Given the description of an element on the screen output the (x, y) to click on. 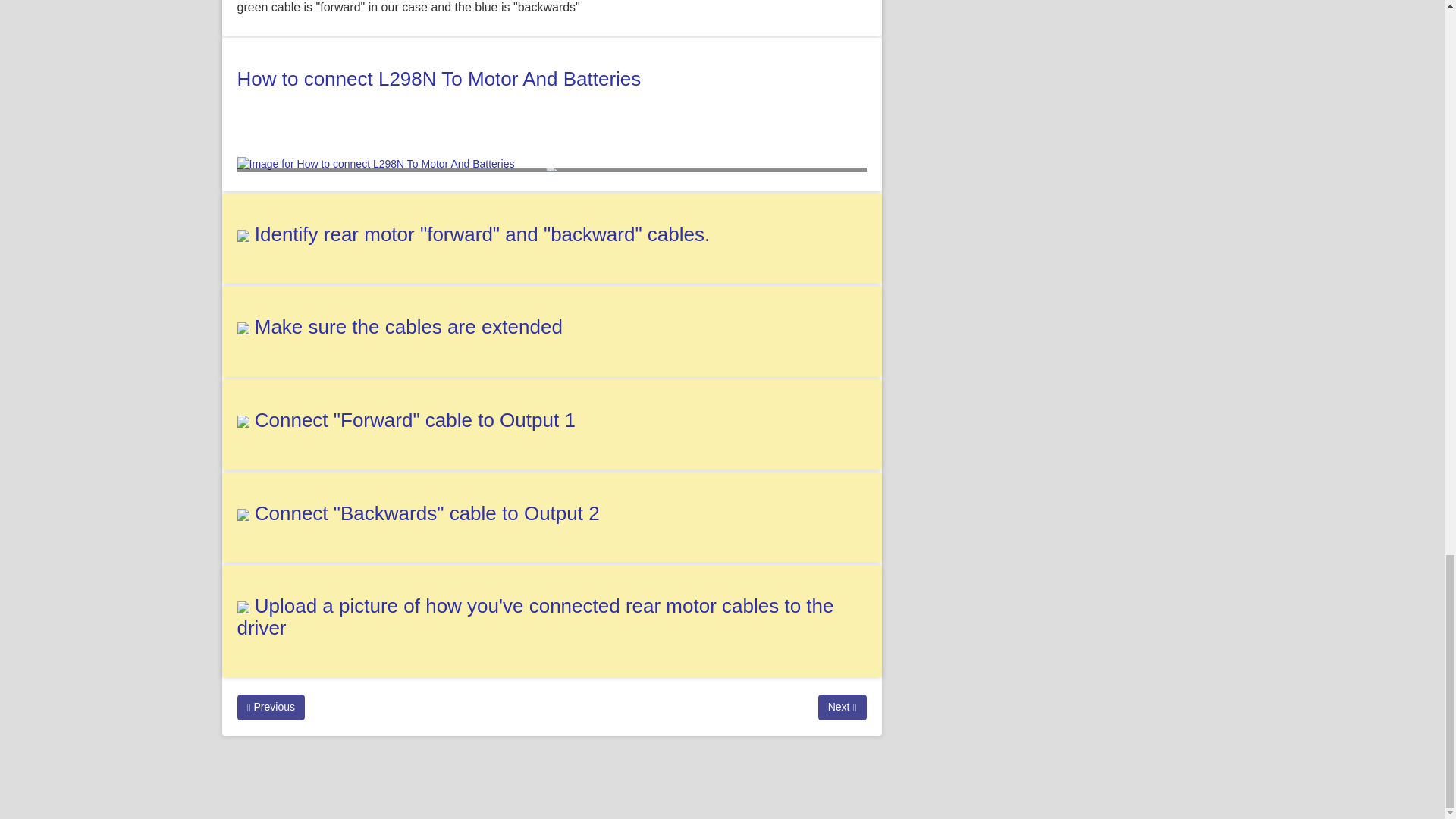
How to connect L298N To Motor And Batteries (437, 78)
Connect "Backwards" cable to Output 2 (426, 513)
Identify rear motor "forward" and "backward" cables. (482, 233)
Make sure the cables are extended (408, 326)
Connect "Forward" cable to Output 1 (414, 419)
Previous (269, 706)
